Given the description of an element on the screen output the (x, y) to click on. 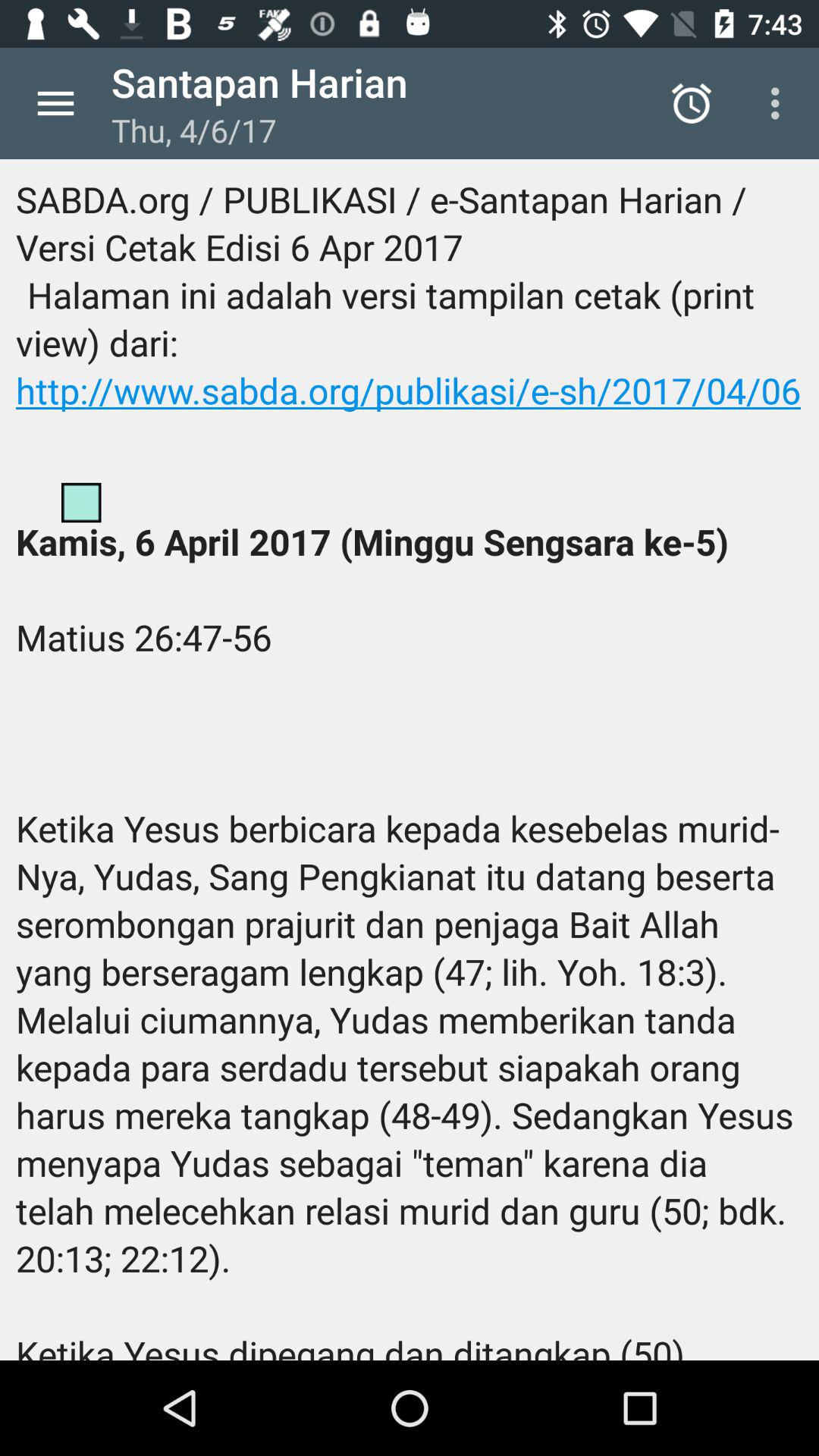
choose sabda org publikasi at the center (409, 759)
